Given the description of an element on the screen output the (x, y) to click on. 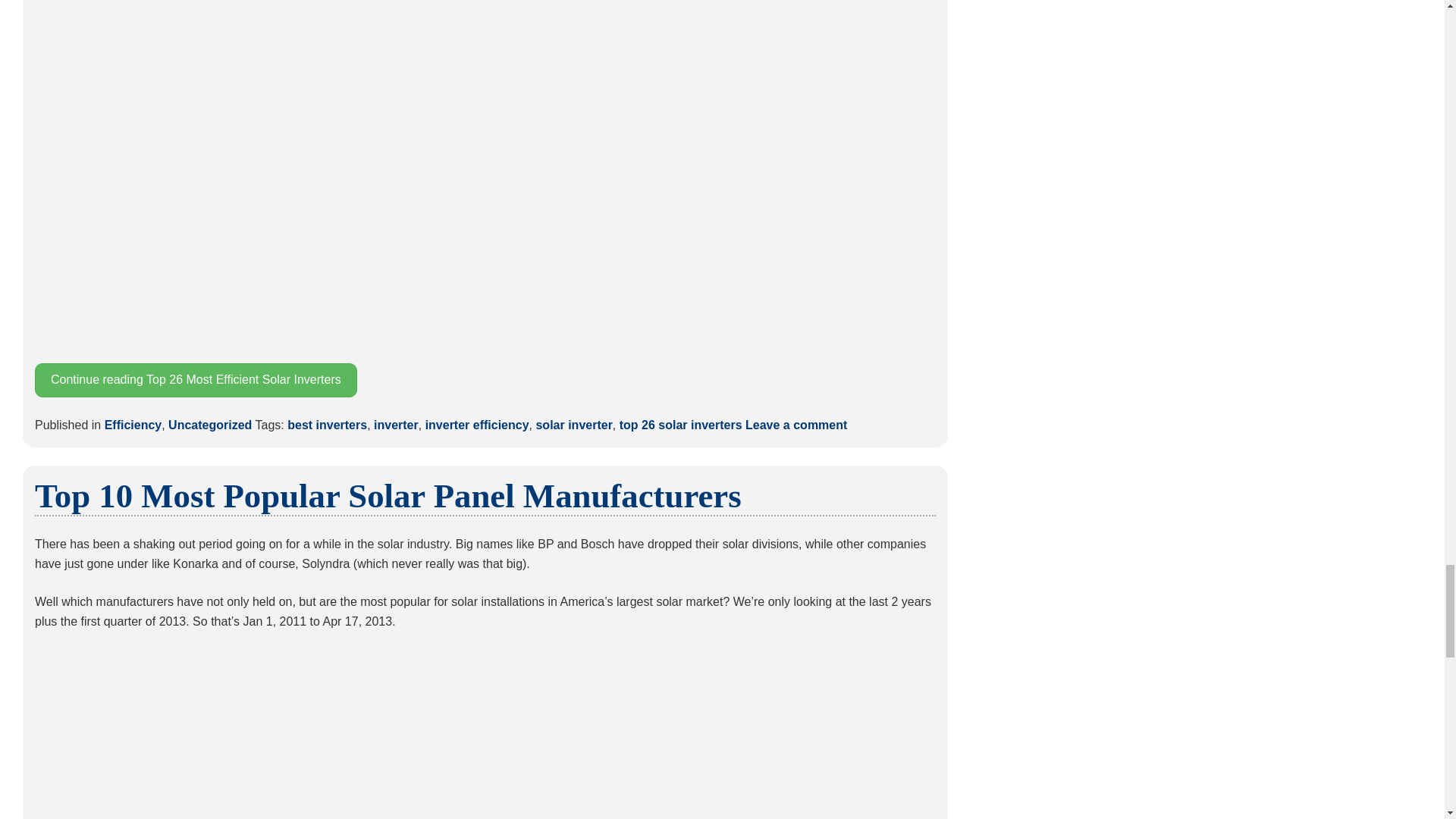
10 Most Popular Solar Panel Manufacturers (485, 734)
